Given the description of an element on the screen output the (x, y) to click on. 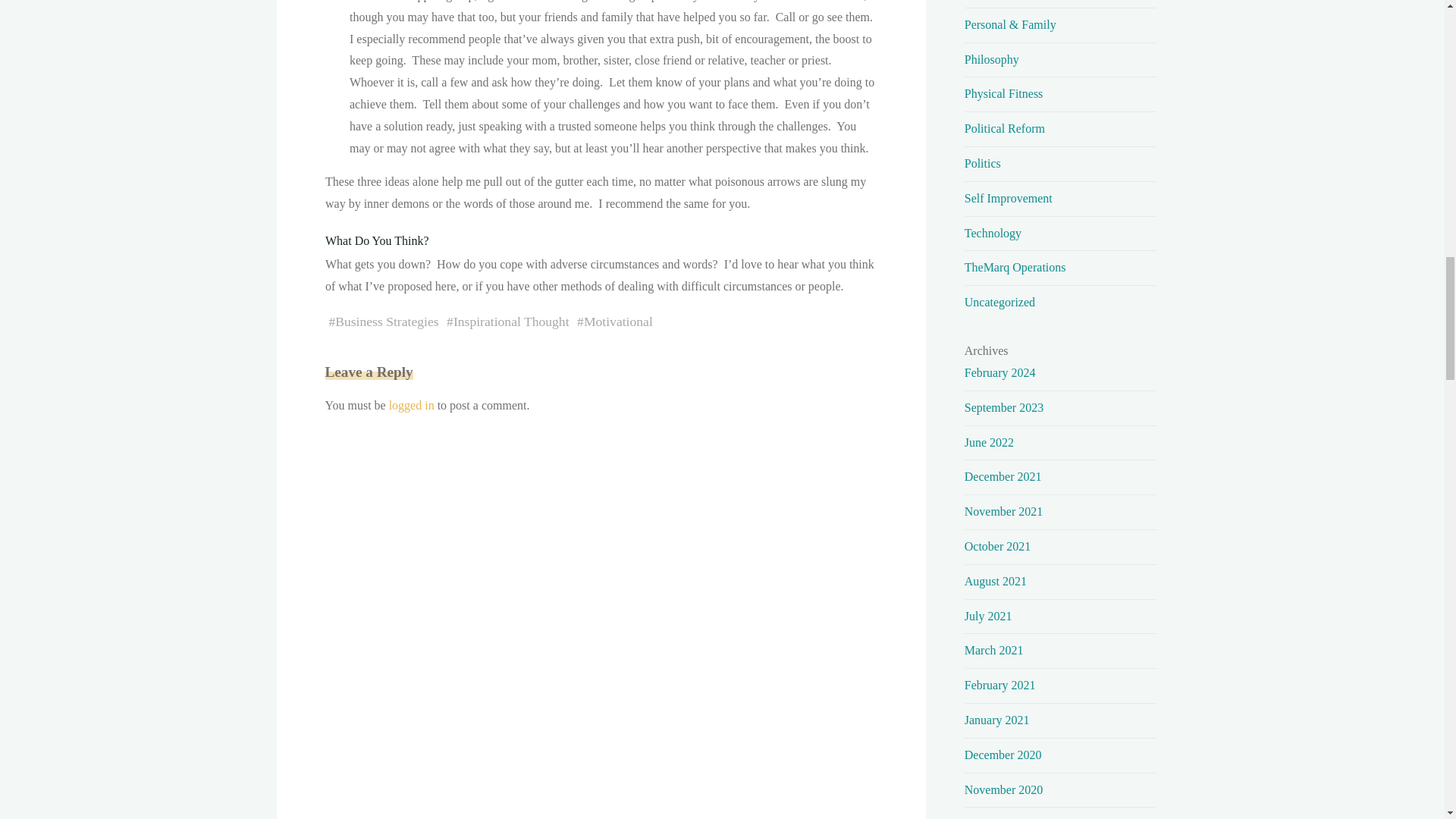
logged in (410, 404)
Motivational (617, 321)
Inspirational Thought (510, 321)
Business Strategies (386, 321)
